Given the description of an element on the screen output the (x, y) to click on. 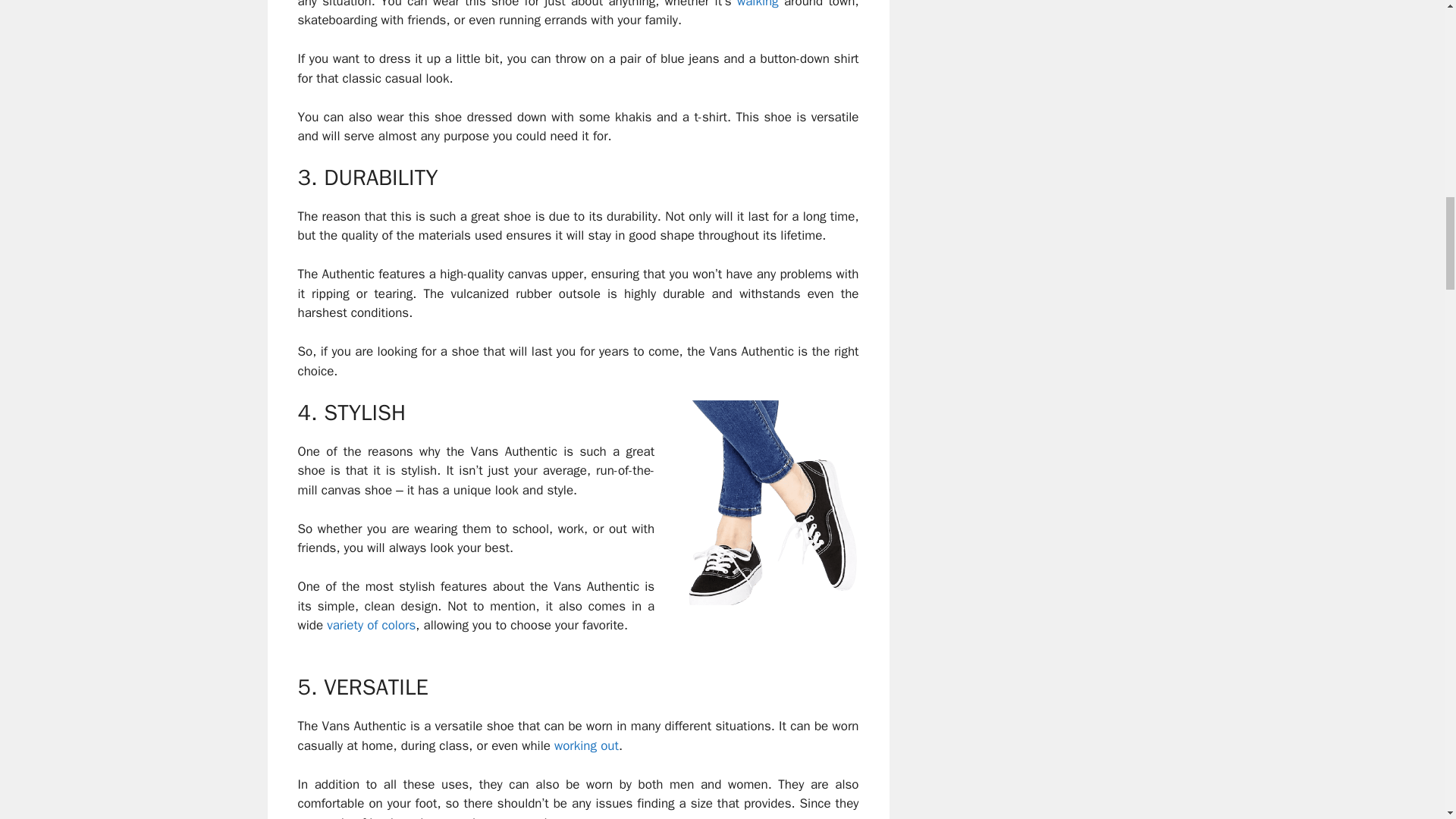
working out (586, 745)
walking (757, 4)
variety of colors (370, 625)
